Given the description of an element on the screen output the (x, y) to click on. 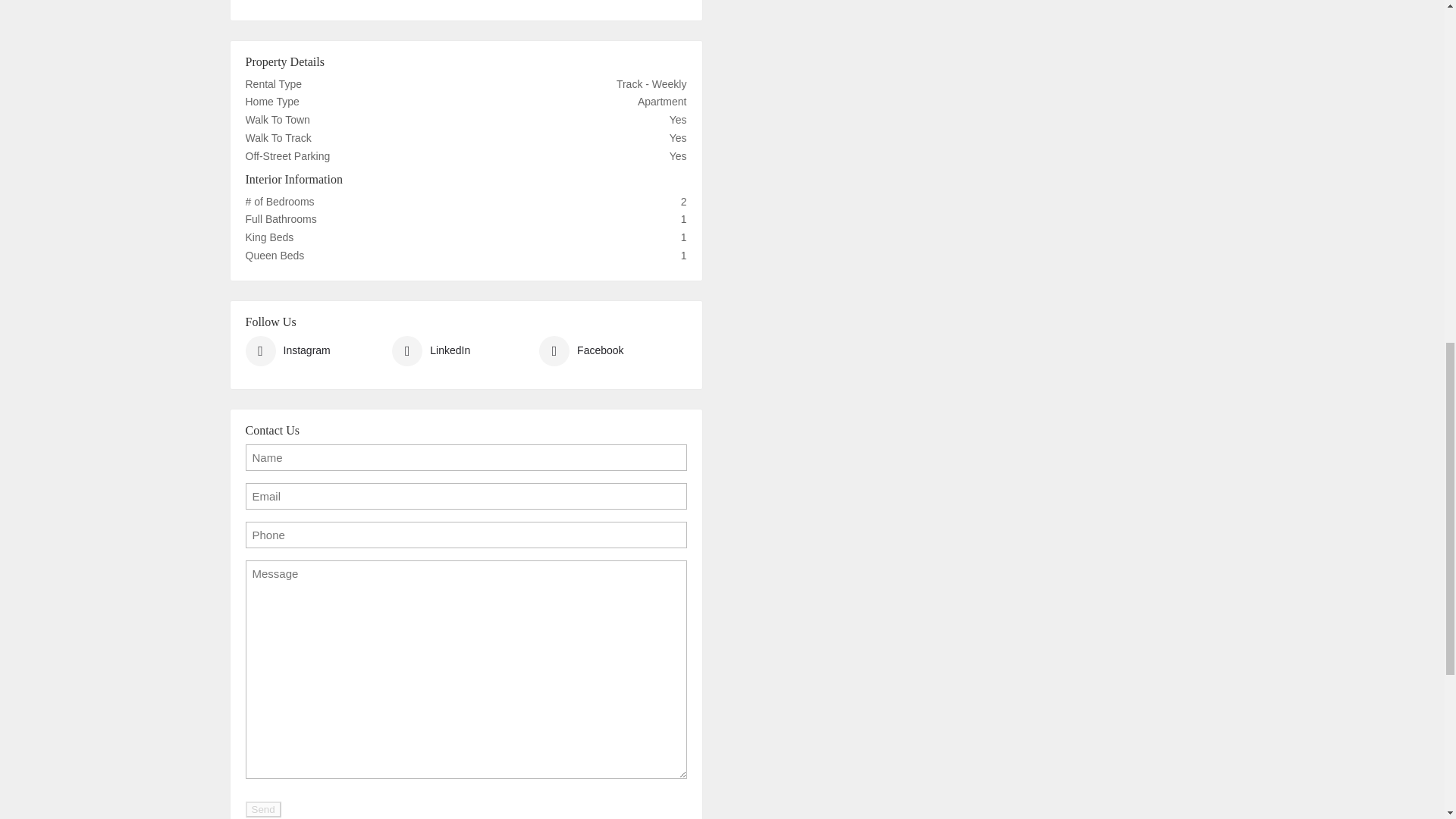
Facebook (580, 350)
LinkedIn (430, 350)
Send (263, 808)
Send (263, 808)
Instagram (288, 350)
